Given the description of an element on the screen output the (x, y) to click on. 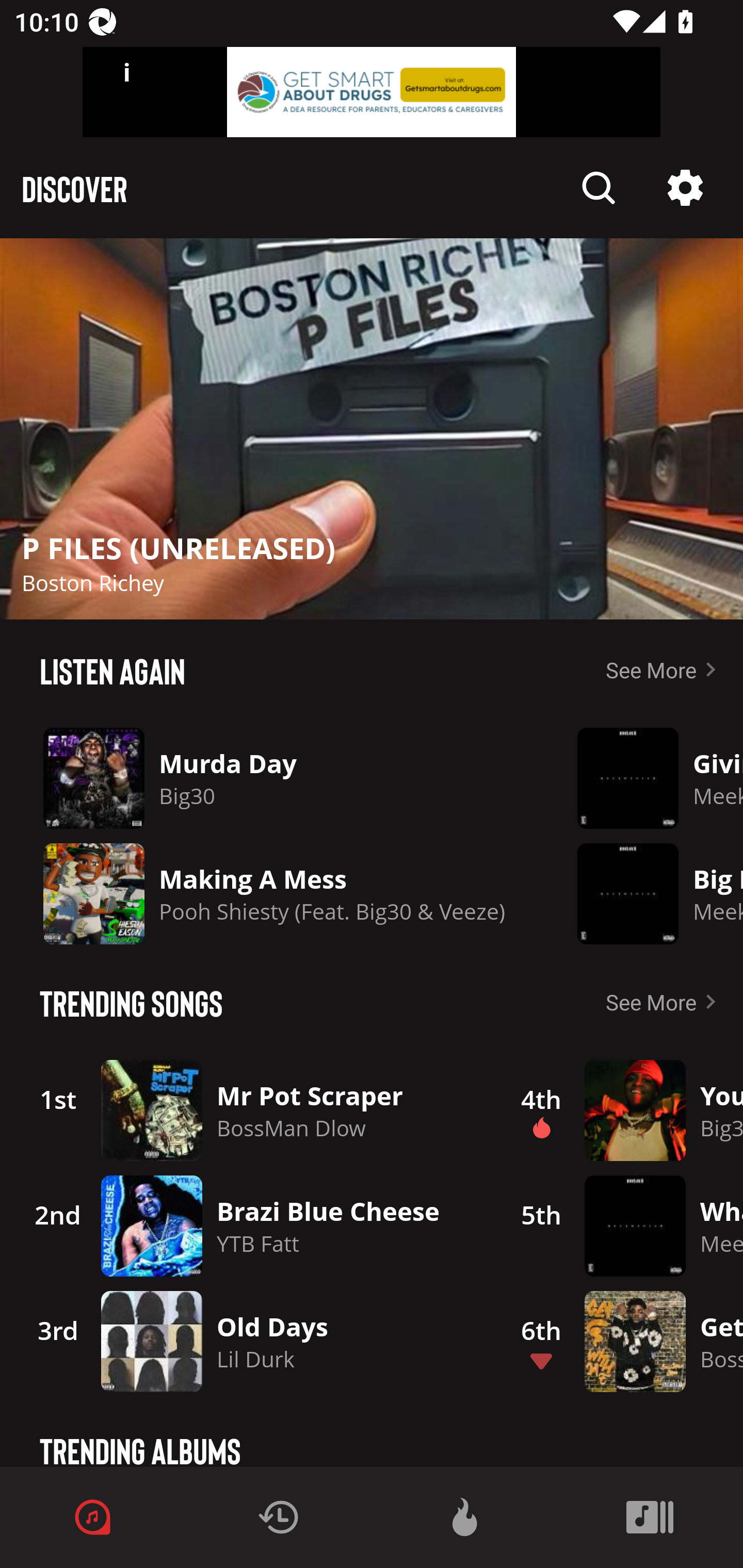
Description (598, 188)
Description (684, 188)
Description (371, 428)
See More (664, 669)
Description Murda Day Big30 (274, 778)
Description Giving Chanel Meek Mill (Feat. Future) (645, 778)
Description Big Boy Meek Mill (645, 893)
See More (664, 1001)
1st Description Mr Pot Scraper BossMan Dlow (248, 1110)
4th Description Description You Thought Big30 (620, 1110)
2nd Description Brazi Blue Cheese YTB Fatt (248, 1226)
3rd Description Old Days Lil Durk (248, 1341)
